Given the description of an element on the screen output the (x, y) to click on. 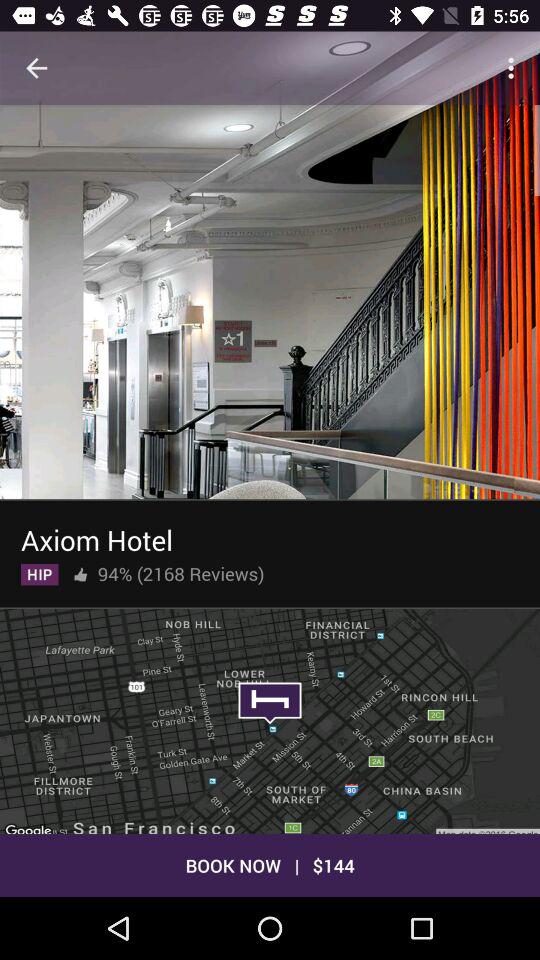
open icon below the axiom hotel item (39, 570)
